Given the description of an element on the screen output the (x, y) to click on. 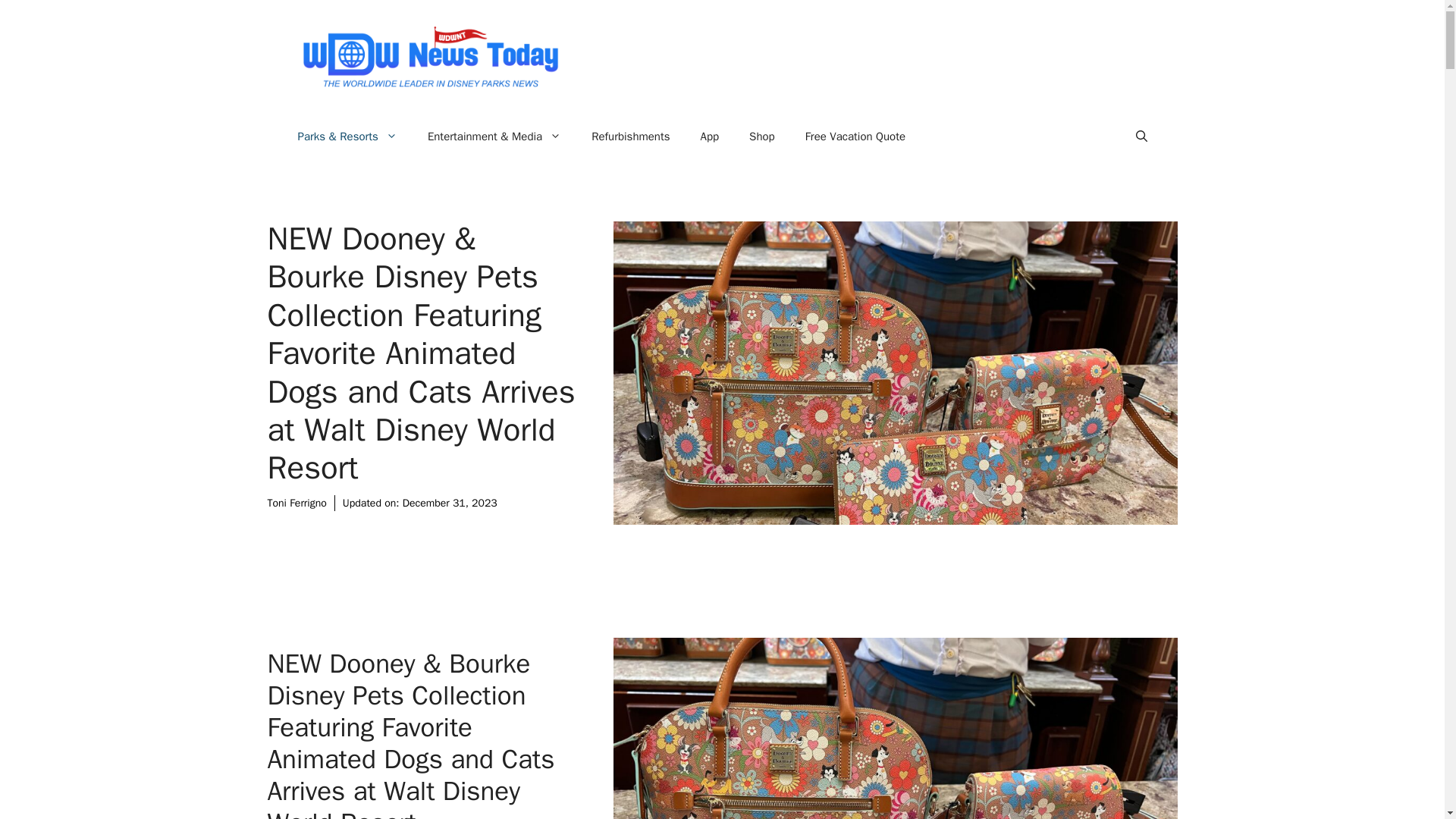
Shop (761, 135)
App (710, 135)
Refurbishments (630, 135)
Free Vacation Quote (855, 135)
